Given the description of an element on the screen output the (x, y) to click on. 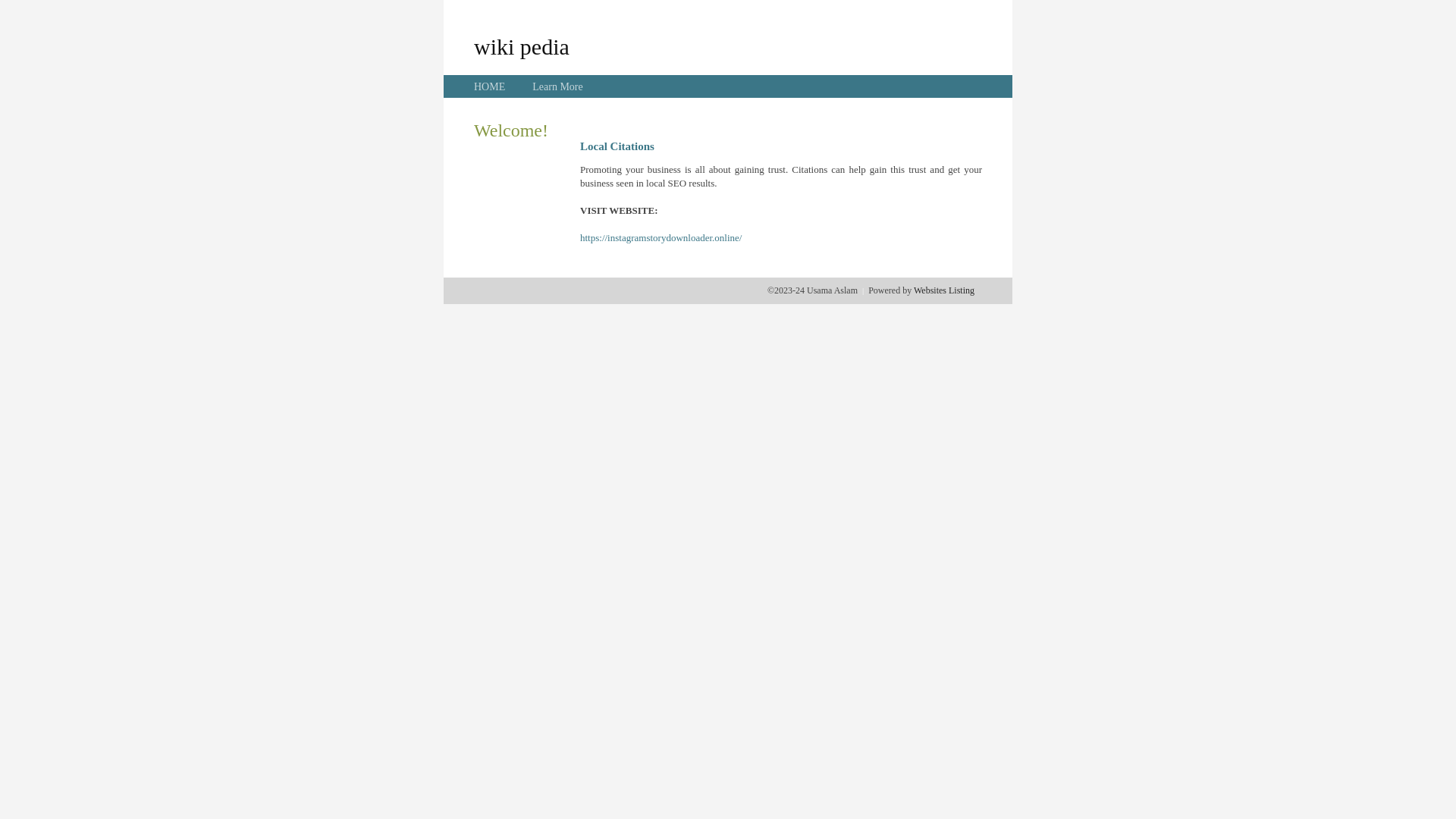
Learn More Element type: text (557, 86)
HOME Element type: text (489, 86)
wiki pedia Element type: text (521, 46)
Websites Listing Element type: text (943, 290)
https://instagramstorydownloader.online/ Element type: text (660, 237)
